Given the description of an element on the screen output the (x, y) to click on. 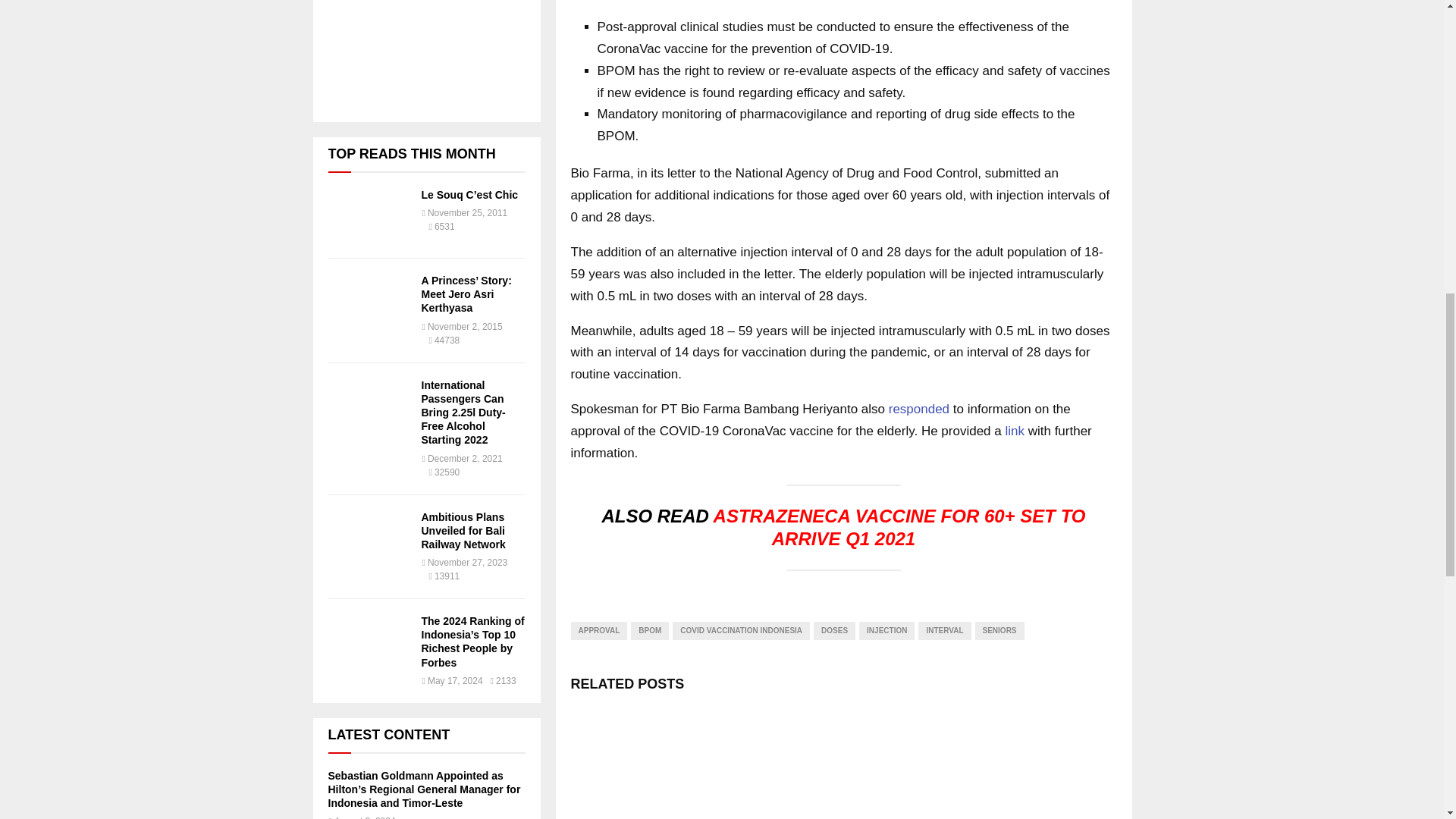
 Ambitious Plans Unveiled for Bali Railway Network  (463, 530)
